Given the description of an element on the screen output the (x, y) to click on. 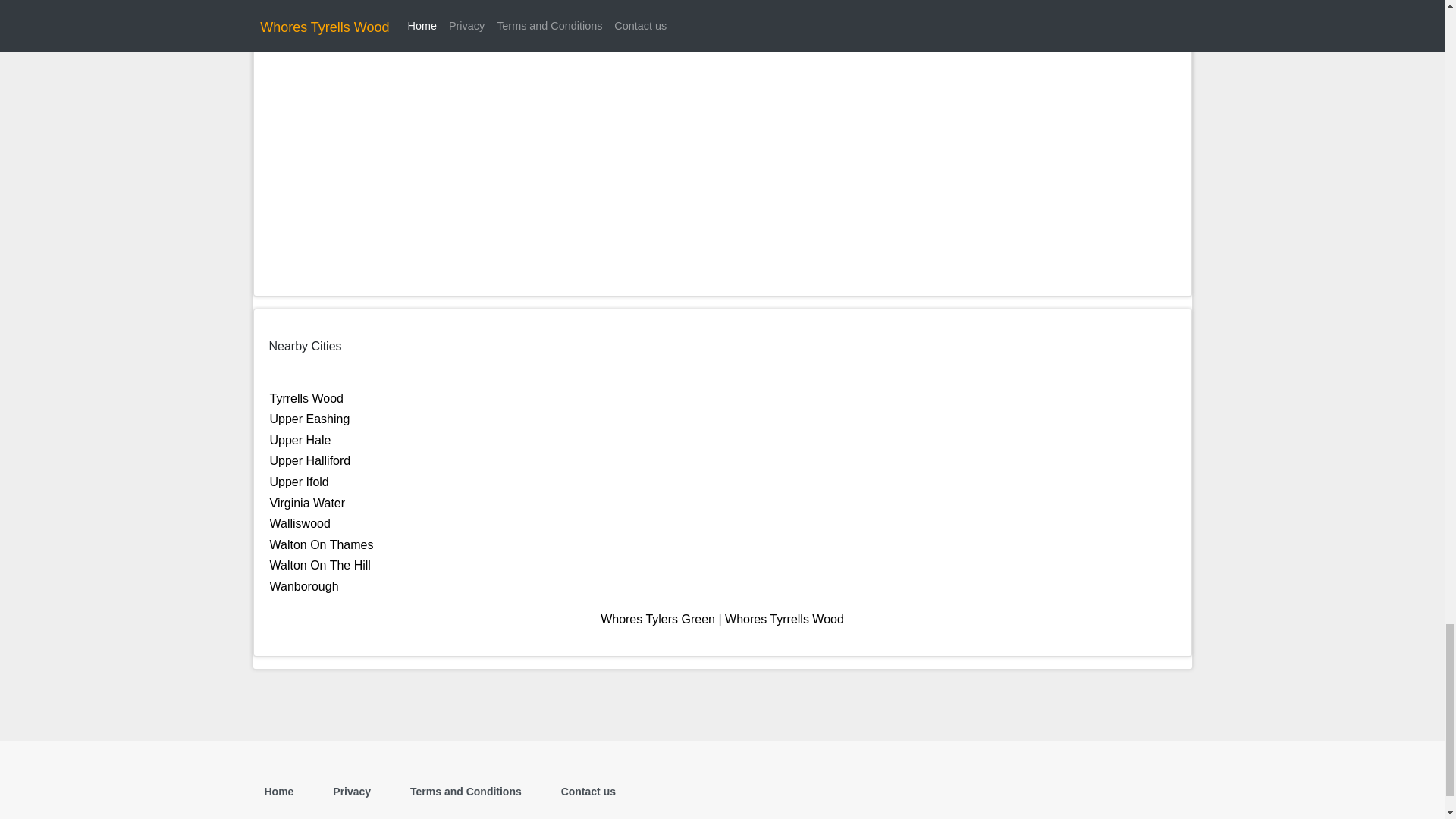
Walton On The Hill (320, 564)
Wanborough (304, 585)
Whores Tyrrells Wood (784, 618)
Walliswood (299, 522)
Upper Halliford (309, 460)
Tyrrells Wood (306, 398)
Upper Ifold (299, 481)
Upper Eashing (309, 418)
Walton On Thames (321, 544)
Upper Hale (300, 440)
Virginia Water (307, 502)
Whores Tylers Green (656, 618)
